Given the description of an element on the screen output the (x, y) to click on. 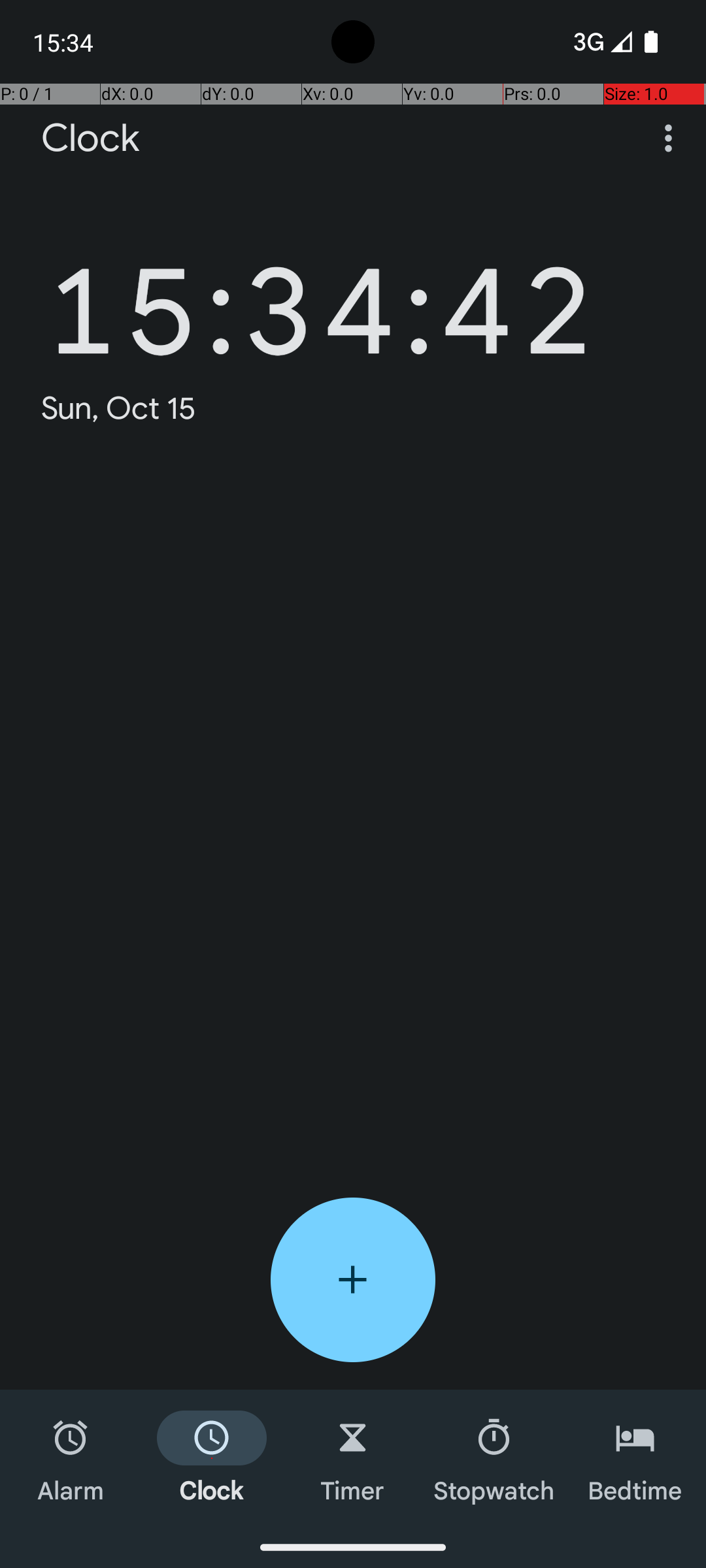
15:34:42 Element type: android.widget.TextView (319, 290)
